Given the description of an element on the screen output the (x, y) to click on. 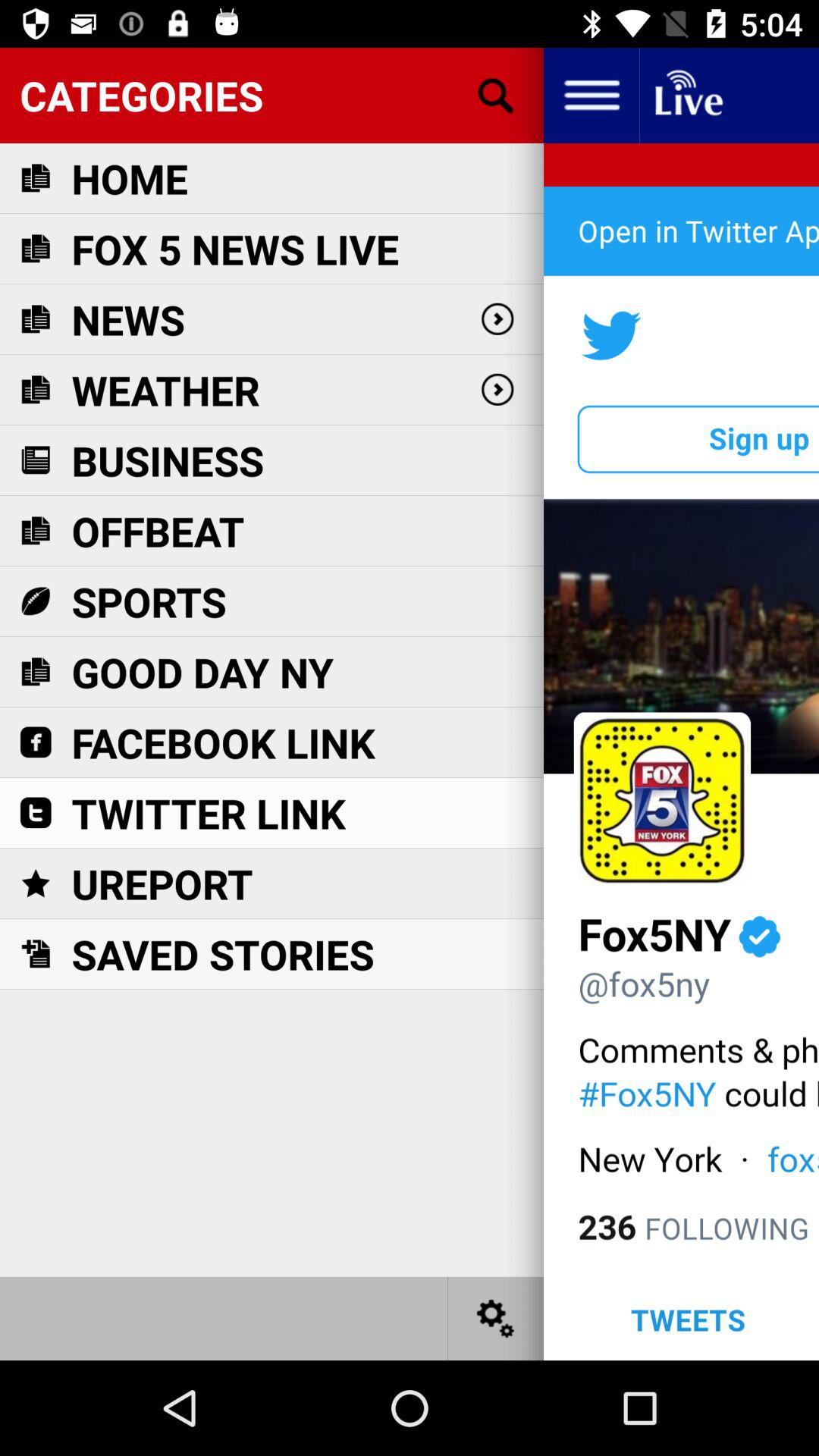
open the item next to the categories item (591, 95)
